Given the description of an element on the screen output the (x, y) to click on. 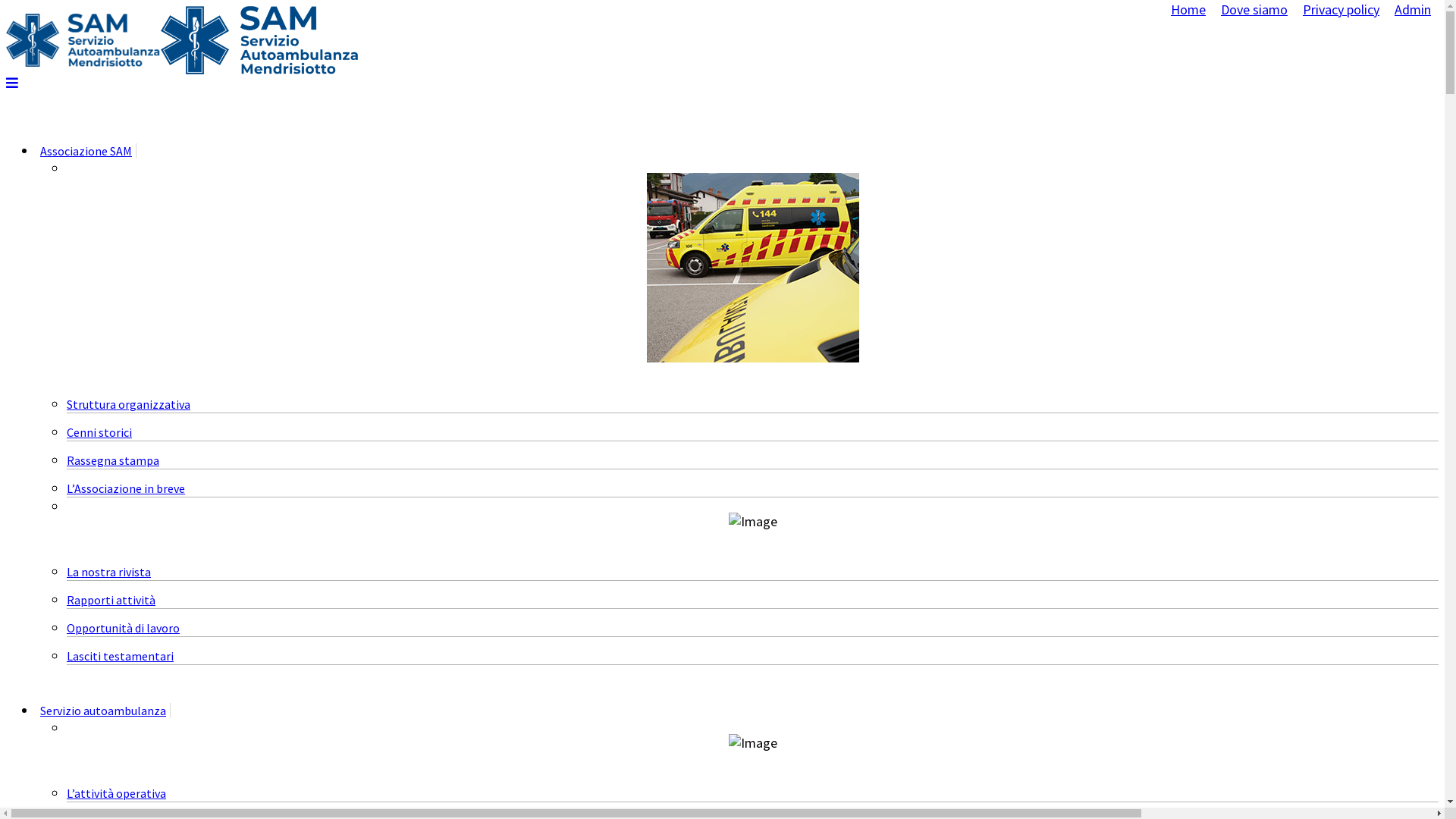
Servizio autoambulanza Element type: text (103, 710)
Home Element type: text (1187, 9)
Privacy policy Element type: text (1340, 9)
Rassegna stampa Element type: text (112, 459)
Admin Element type: text (1412, 9)
La nostra rivista Element type: text (108, 571)
Cenni storici Element type: text (98, 431)
Navigation Element type: hover (12, 82)
Associazione SAM Element type: text (86, 150)
Lasciti testamentari Element type: text (119, 655)
Struttura organizzativa Element type: text (128, 403)
Dove siamo Element type: text (1253, 9)
